Given the description of an element on the screen output the (x, y) to click on. 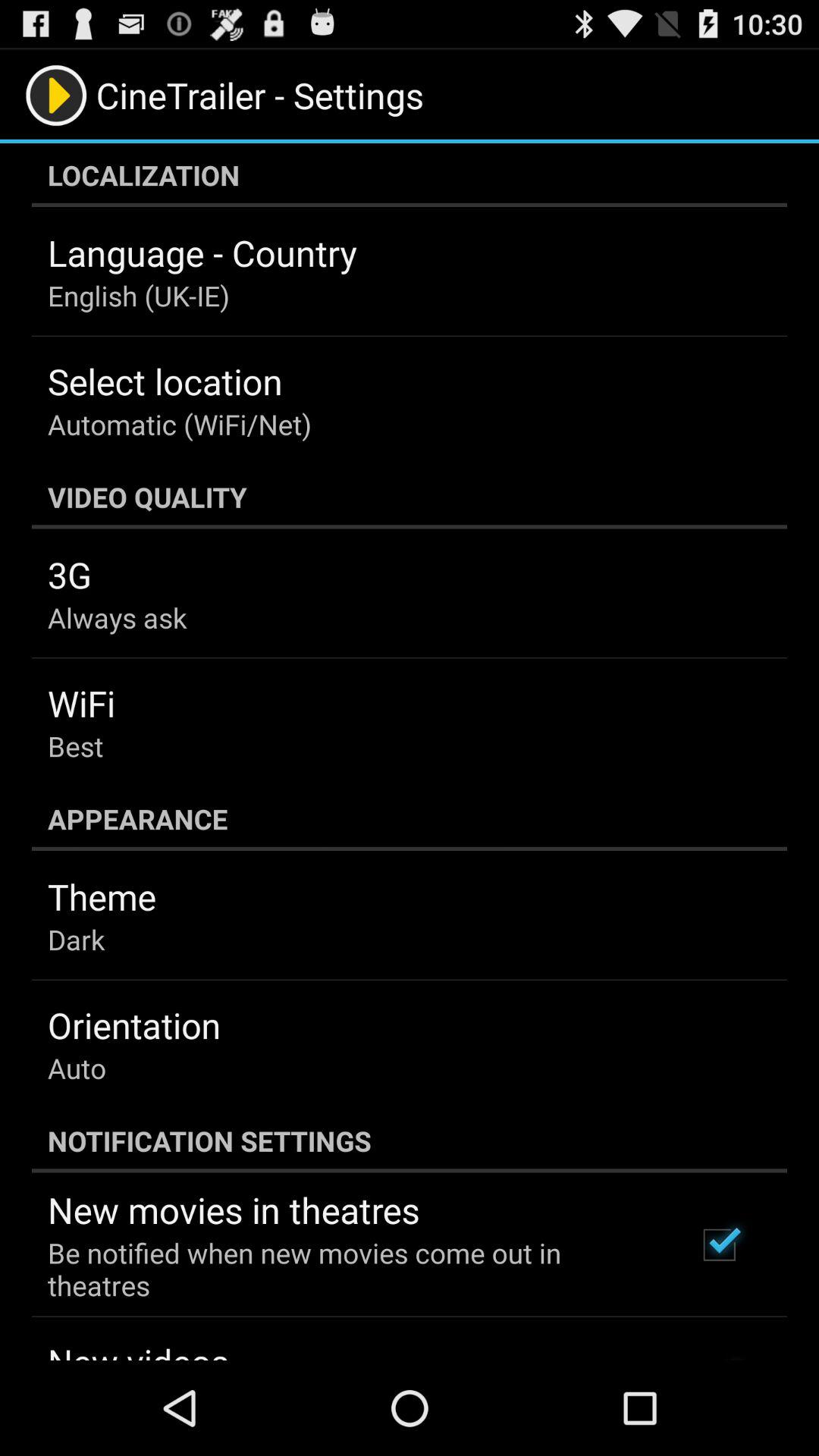
flip until the language - country (202, 252)
